Given the description of an element on the screen output the (x, y) to click on. 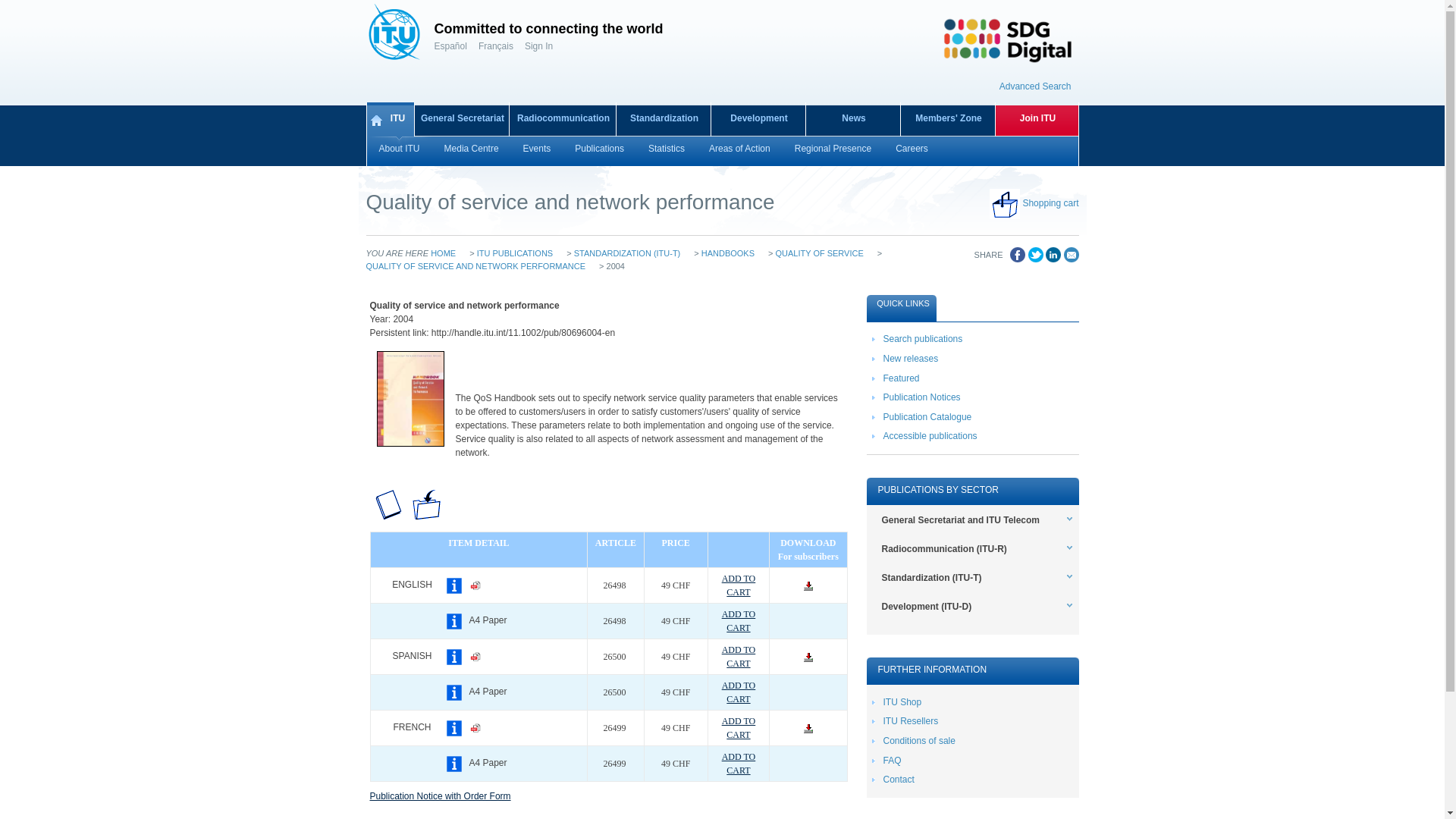
Download (807, 656)
Advanced Search (1034, 78)
Radiocommunication (562, 119)
HOME (442, 252)
Careers (911, 151)
Download (807, 728)
General Secretariat (460, 119)
Statistics (666, 151)
Media Centre (471, 151)
Shopping cart (1050, 203)
Publications (599, 151)
Development (758, 119)
Areas of Action (740, 151)
PDF format (474, 656)
ITU (389, 119)
